Given the description of an element on the screen output the (x, y) to click on. 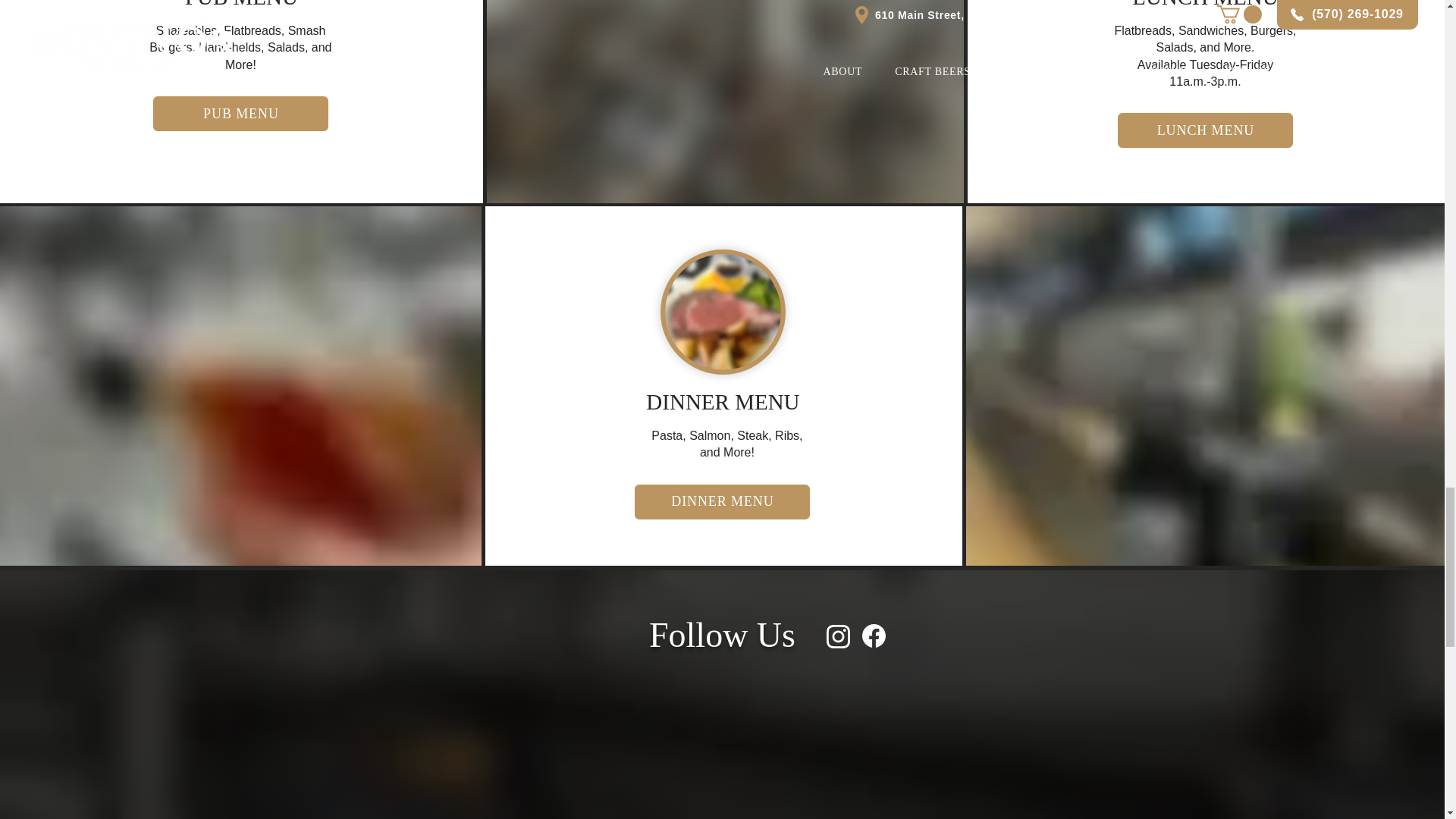
DINNER MENU (721, 501)
LUNCH MENU (1205, 130)
PUB MENU (240, 113)
